Given the description of an element on the screen output the (x, y) to click on. 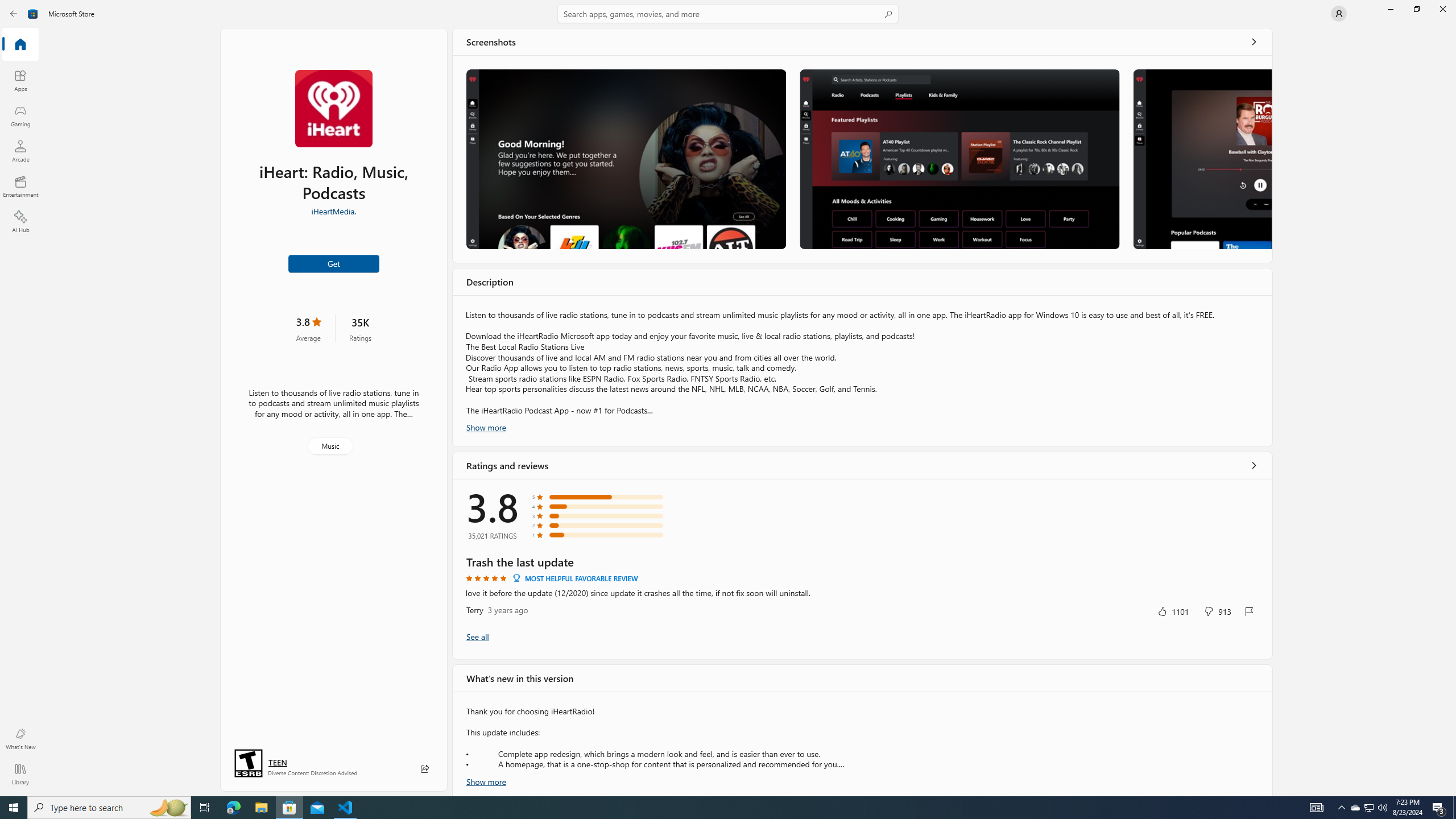
What's New (20, 738)
Back (13, 13)
Screenshot 2 (959, 158)
